Given the description of an element on the screen output the (x, y) to click on. 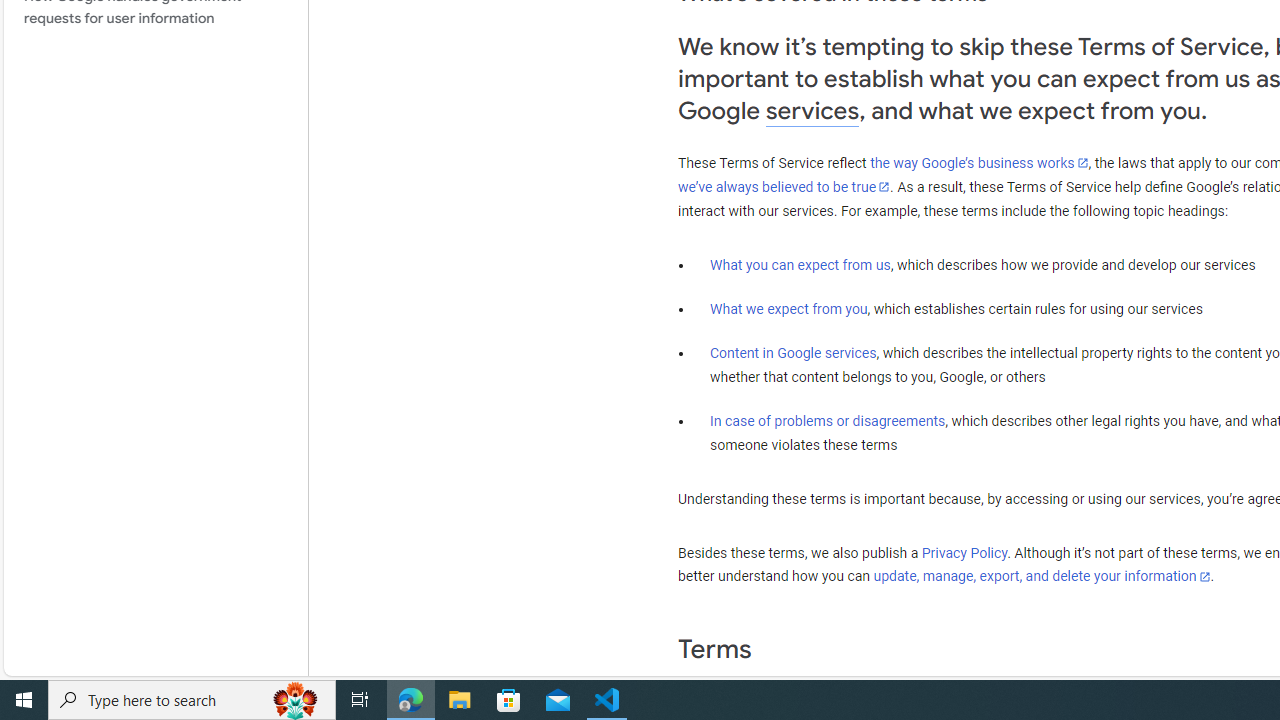
update, manage, export, and delete your information (1041, 577)
What you can expect from us (800, 265)
Privacy Policy (964, 553)
Content in Google services (793, 353)
What we expect from you (788, 309)
services (812, 110)
In case of problems or disagreements (827, 420)
